Given the description of an element on the screen output the (x, y) to click on. 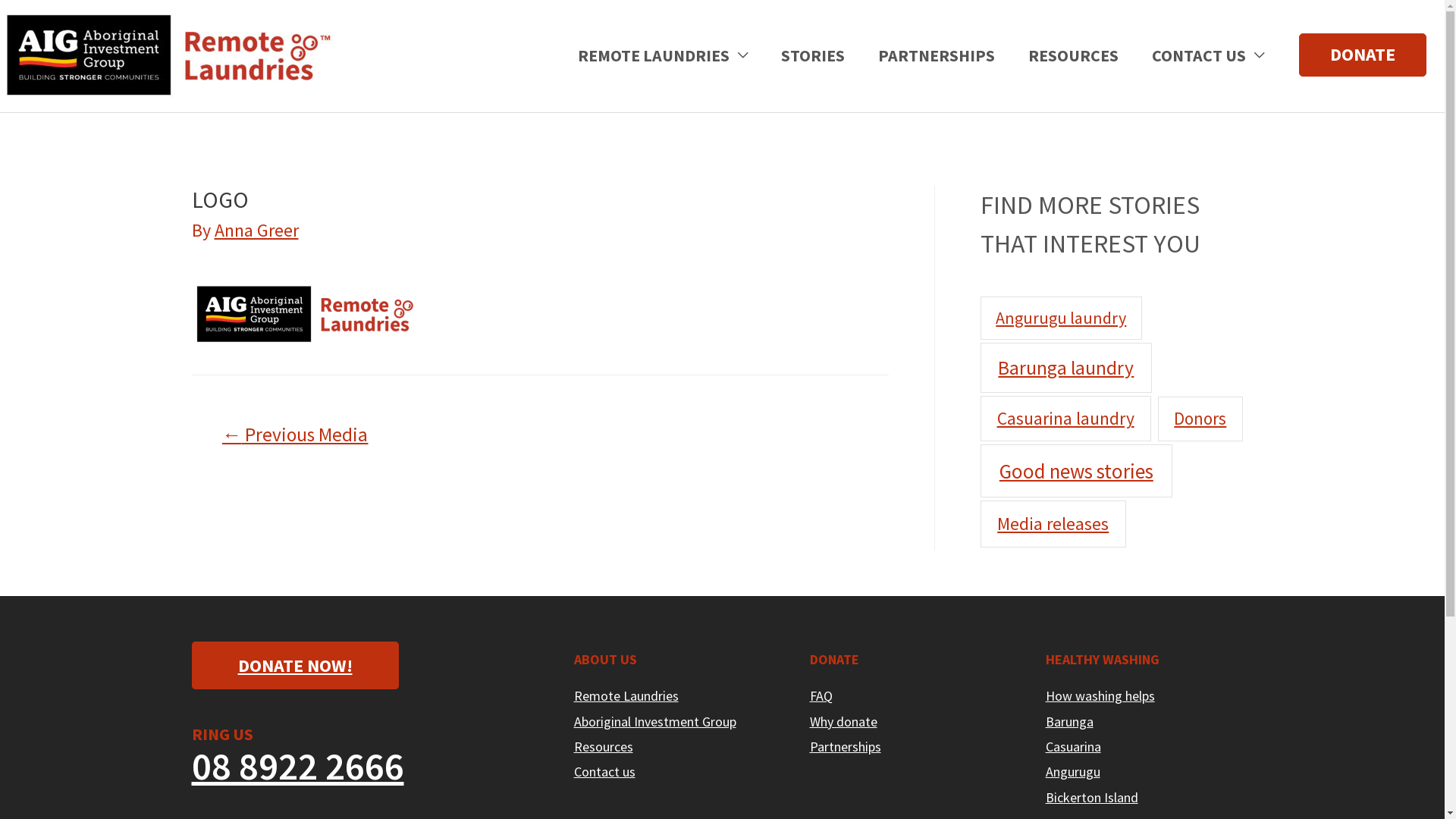
Why donate Element type: text (843, 721)
Casuarina Element type: text (1073, 746)
Donors Element type: text (1199, 418)
Aboriginal Investment Group Element type: text (654, 721)
DONATE NOW! Element type: text (294, 665)
REMOTE LAUNDRIES Element type: text (662, 54)
Good news stories Element type: text (1075, 470)
Anna Greer Element type: text (255, 229)
Angurugu Element type: text (1072, 771)
Partnerships Element type: text (845, 746)
DONATE Element type: text (1362, 54)
RESOURCES Element type: text (1073, 54)
Contact us Element type: text (603, 771)
CONTACT US Element type: text (1207, 54)
STORIES Element type: text (812, 54)
Media releases Element type: text (1052, 523)
PARTNERSHIPS Element type: text (936, 54)
FAQ Element type: text (820, 695)
How washing helps Element type: text (1099, 695)
Resources Element type: text (602, 746)
Casuarina laundry Element type: text (1064, 418)
Remote Laundries Element type: text (625, 695)
Barunga laundry Element type: text (1065, 367)
Barunga Element type: text (1069, 721)
08 8922 2666 Element type: text (297, 766)
Angurugu laundry Element type: text (1060, 317)
Bickerton Island Element type: text (1091, 797)
